Given the description of an element on the screen output the (x, y) to click on. 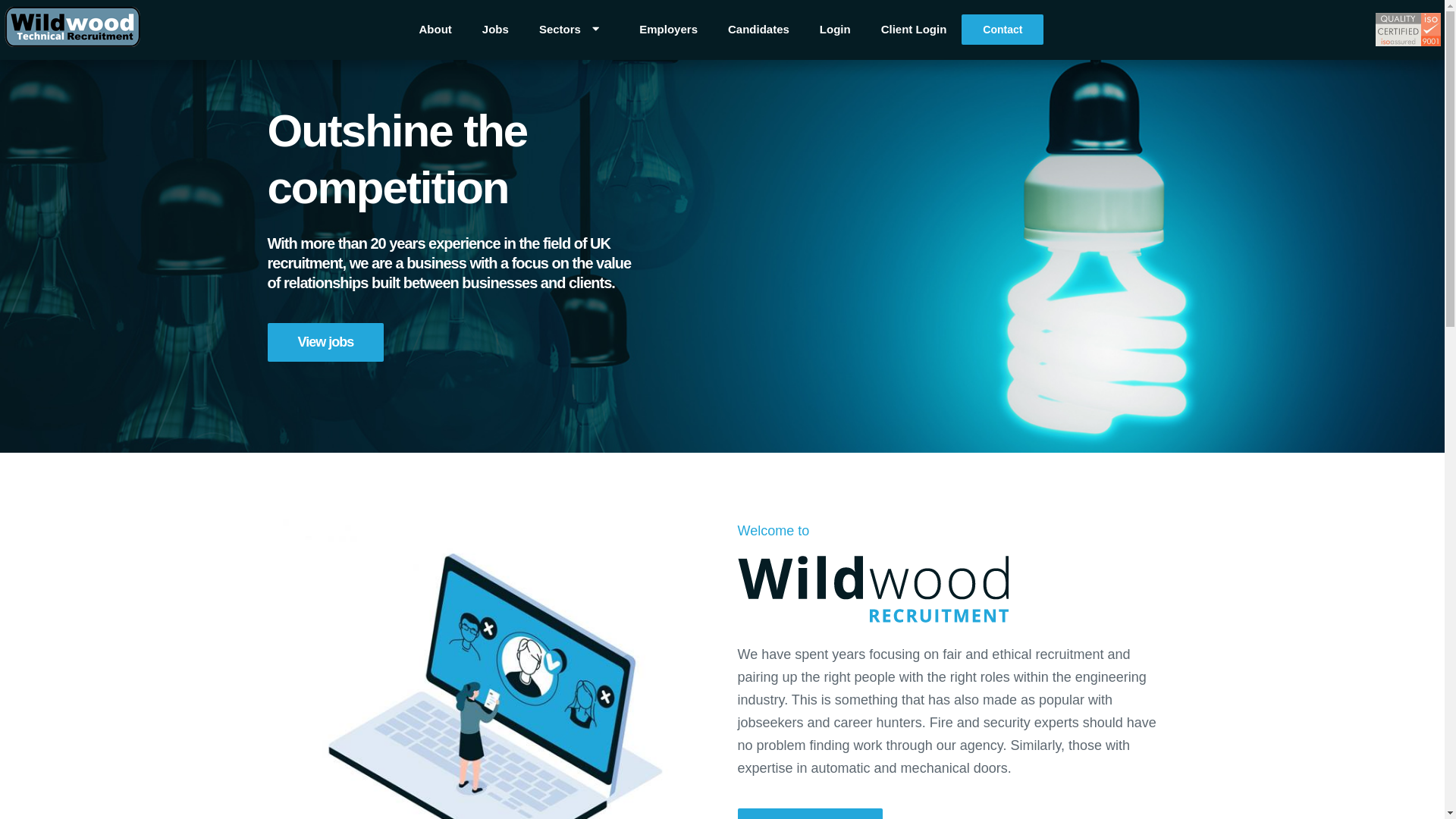
View jobs (325, 341)
Contact (1001, 29)
Employers (668, 28)
Jobs (325, 341)
Sectors (574, 28)
Client Login (914, 28)
Login (835, 28)
Candidates (759, 28)
About (435, 28)
Find out more (809, 813)
Jobs (495, 28)
